Given the description of an element on the screen output the (x, y) to click on. 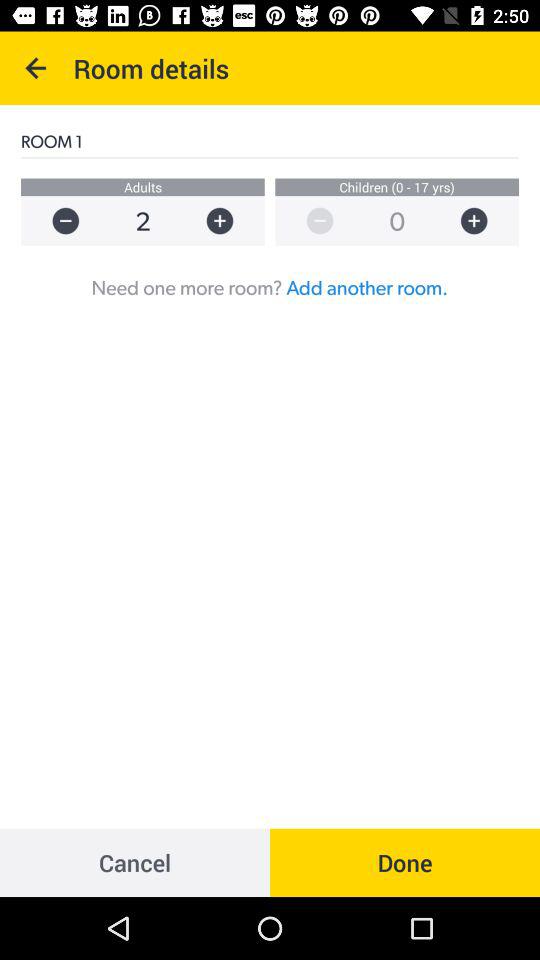
age minimul (310, 220)
